Given the description of an element on the screen output the (x, y) to click on. 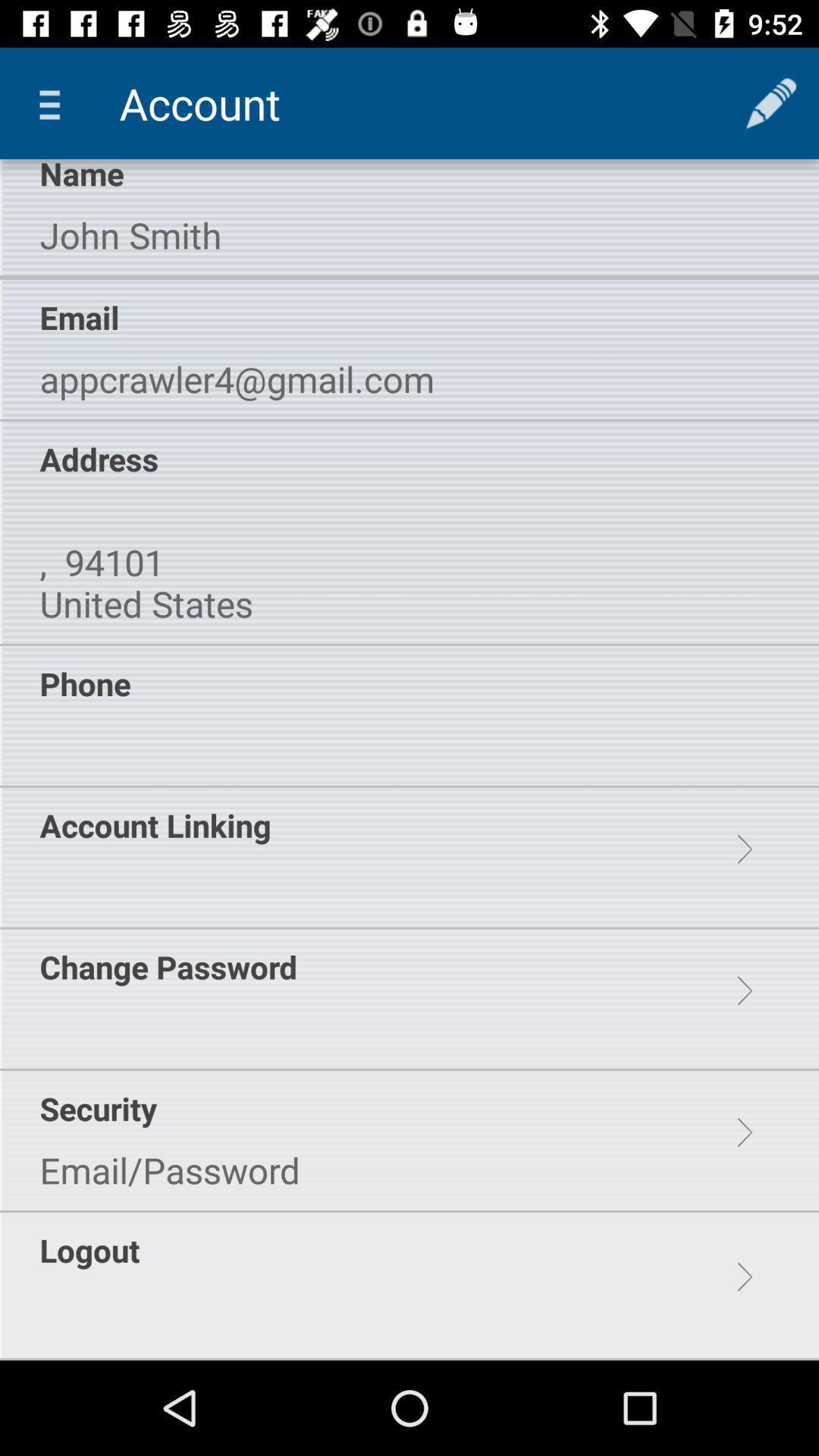
tap the security (97, 1108)
